Given the description of an element on the screen output the (x, y) to click on. 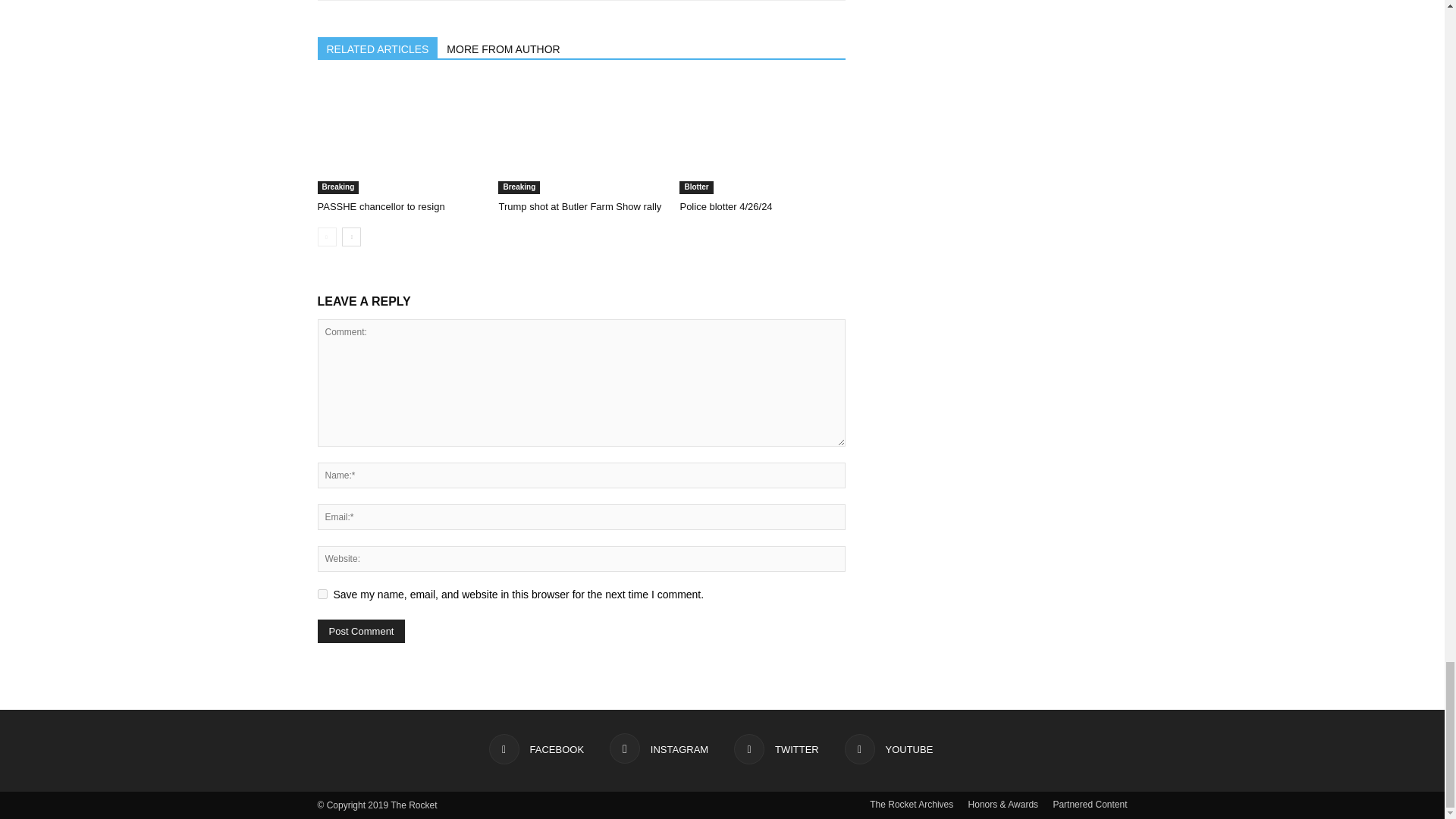
Trump shot at Butler Farm Show rally (580, 137)
yes (321, 593)
PASSHE chancellor to resign (399, 137)
PASSHE chancellor to resign (380, 206)
Post Comment (360, 630)
